Given the description of an element on the screen output the (x, y) to click on. 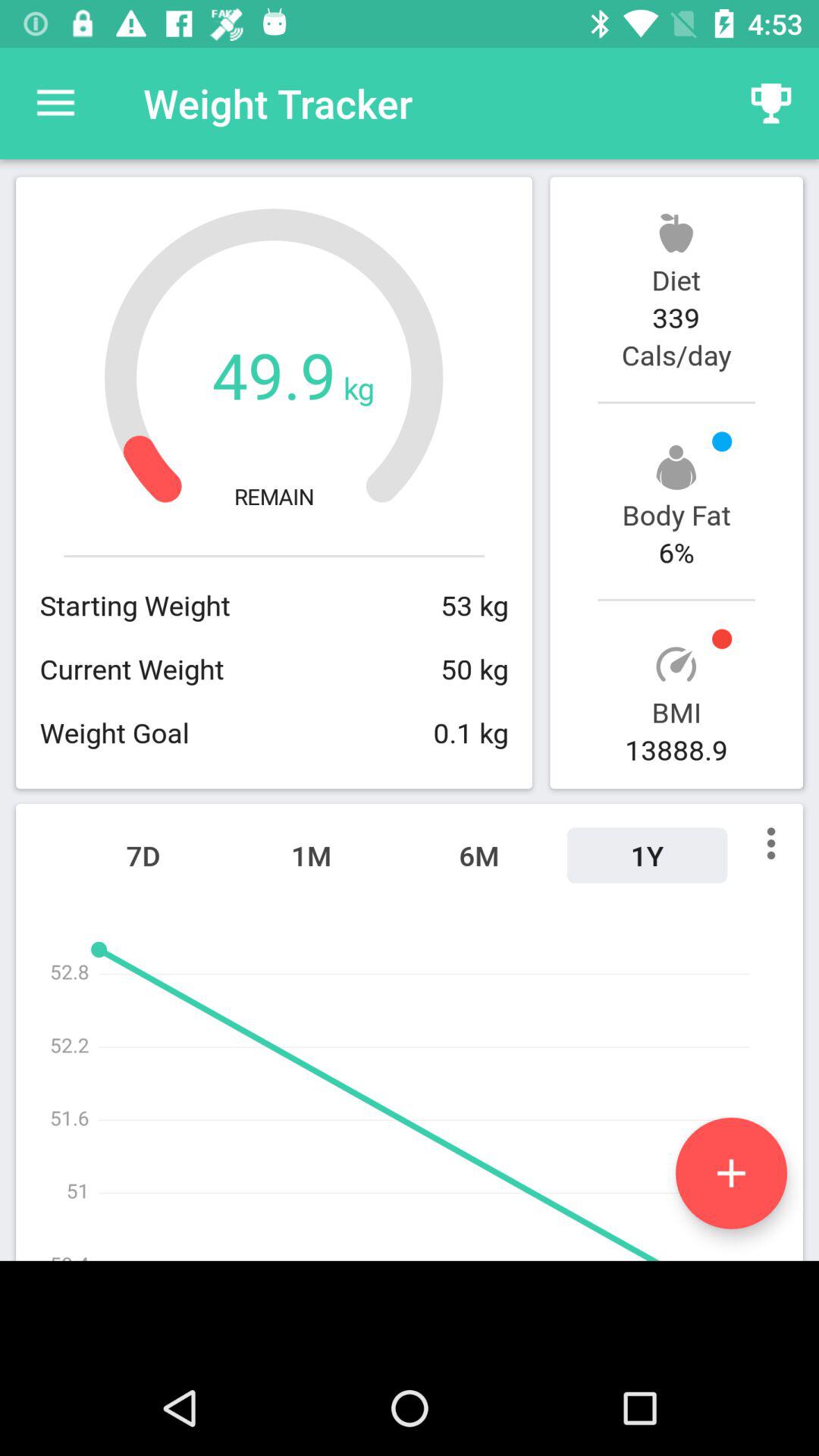
select the 6m item (479, 855)
